Given the description of an element on the screen output the (x, y) to click on. 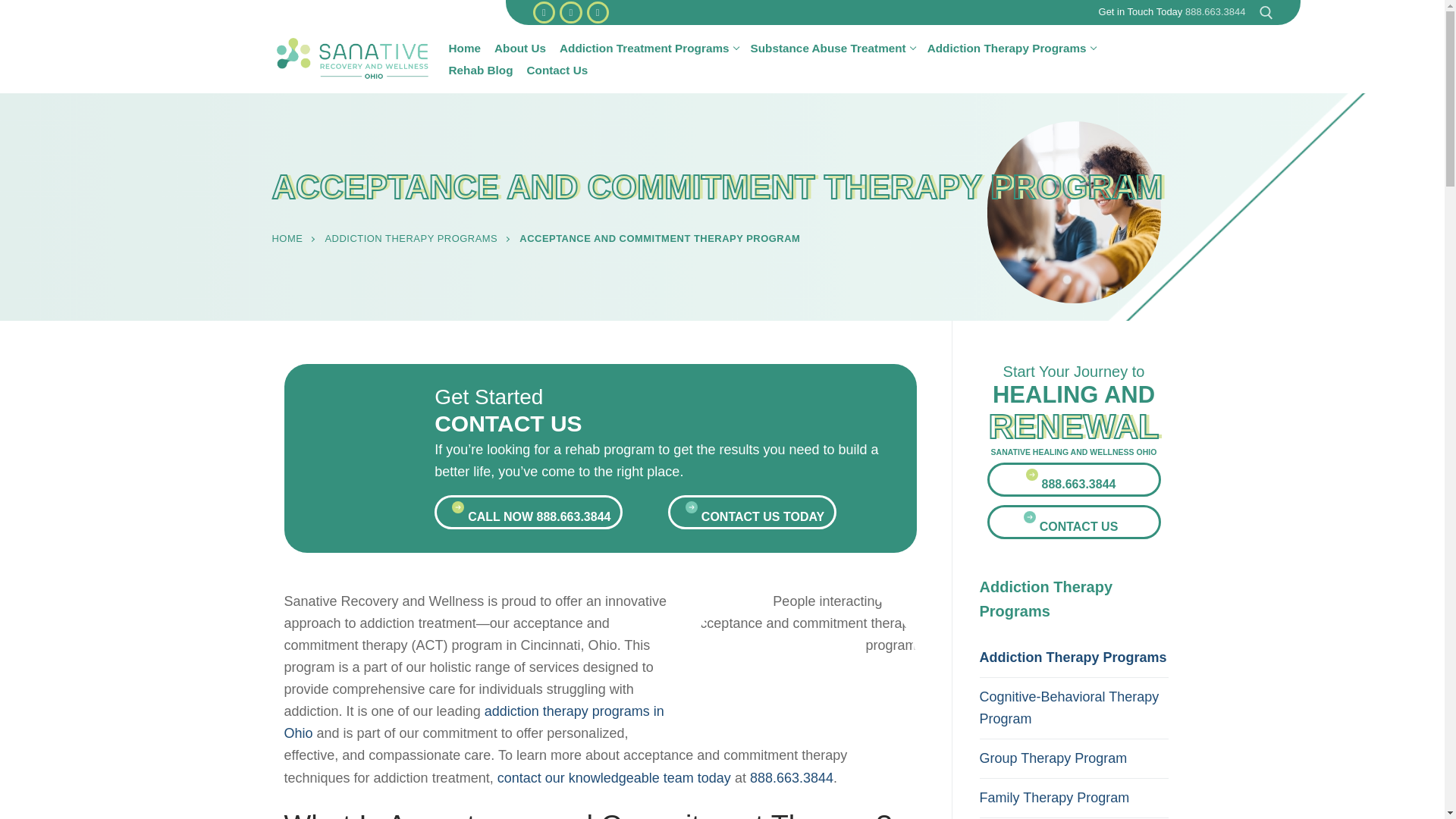
888.663.3844 (1215, 11)
Instagram (570, 12)
Rehab Blog (1011, 47)
Contact Us (481, 69)
Home (556, 69)
Facebook (465, 47)
About Us (543, 12)
